Given the description of an element on the screen output the (x, y) to click on. 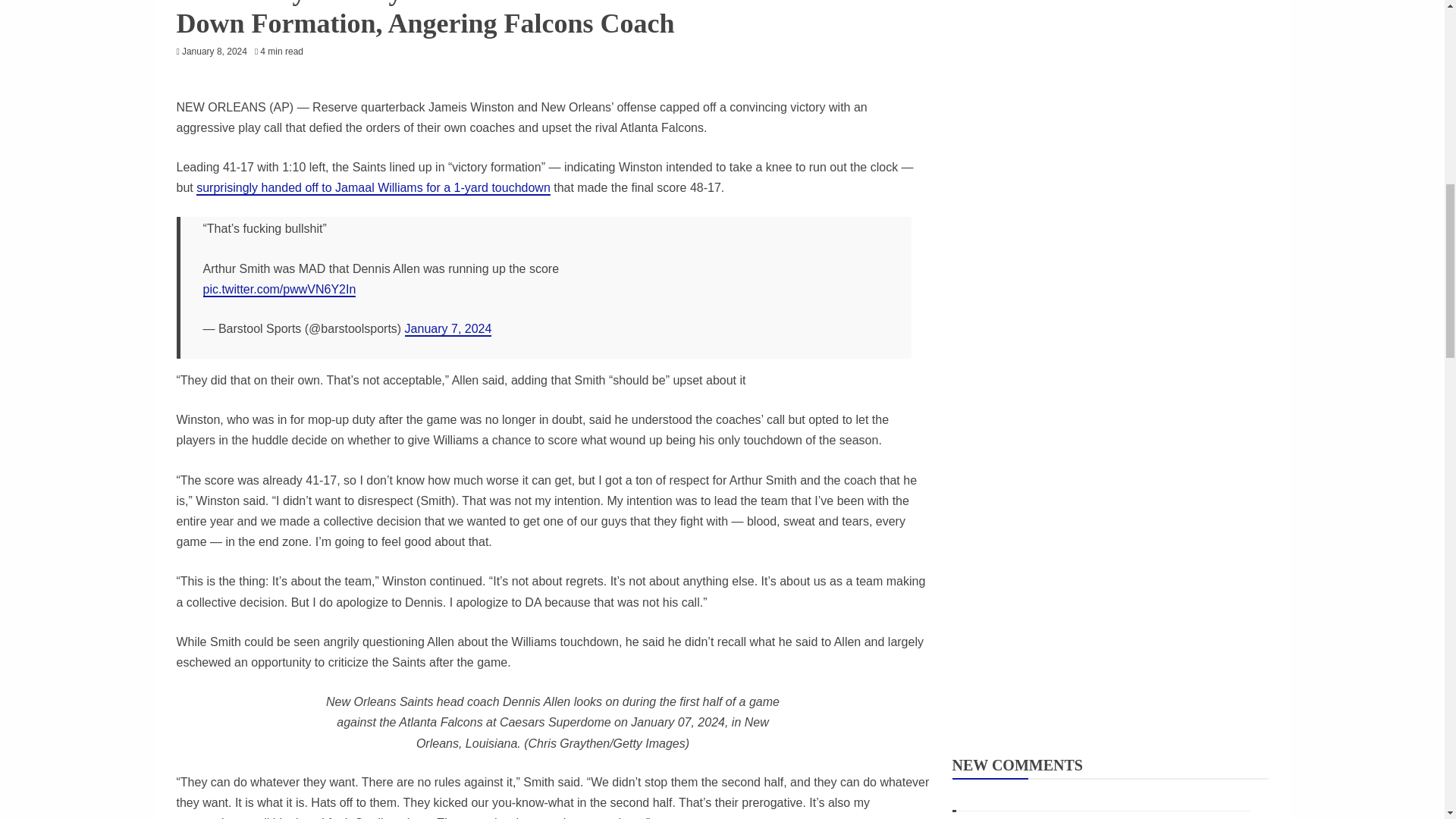
January 8, 2024 (214, 50)
January 7, 2024 (448, 329)
